Given the description of an element on the screen output the (x, y) to click on. 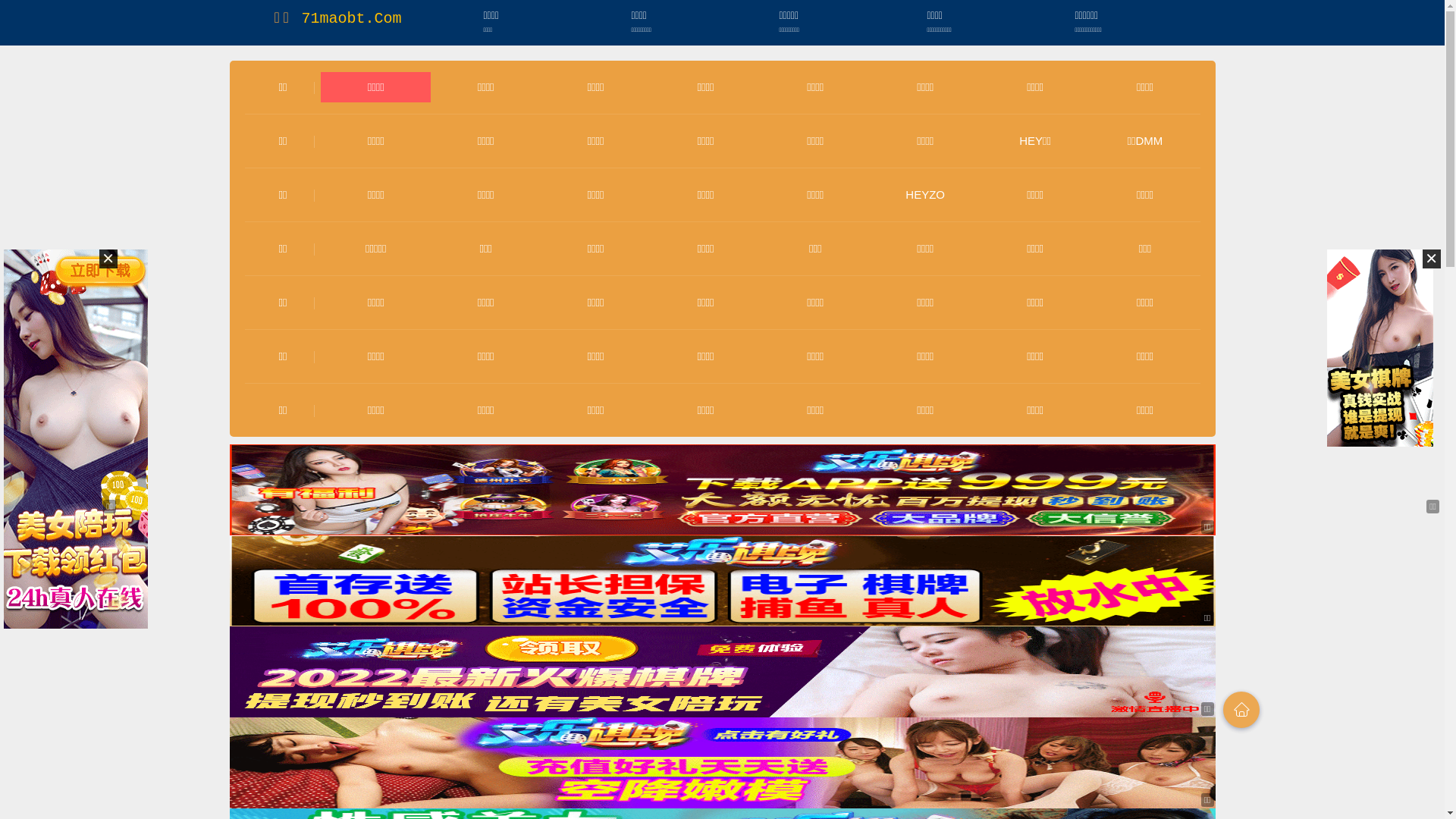
71maobt.Com Element type: text (351, 18)
HEYZO Element type: text (924, 194)
